Given the description of an element on the screen output the (x, y) to click on. 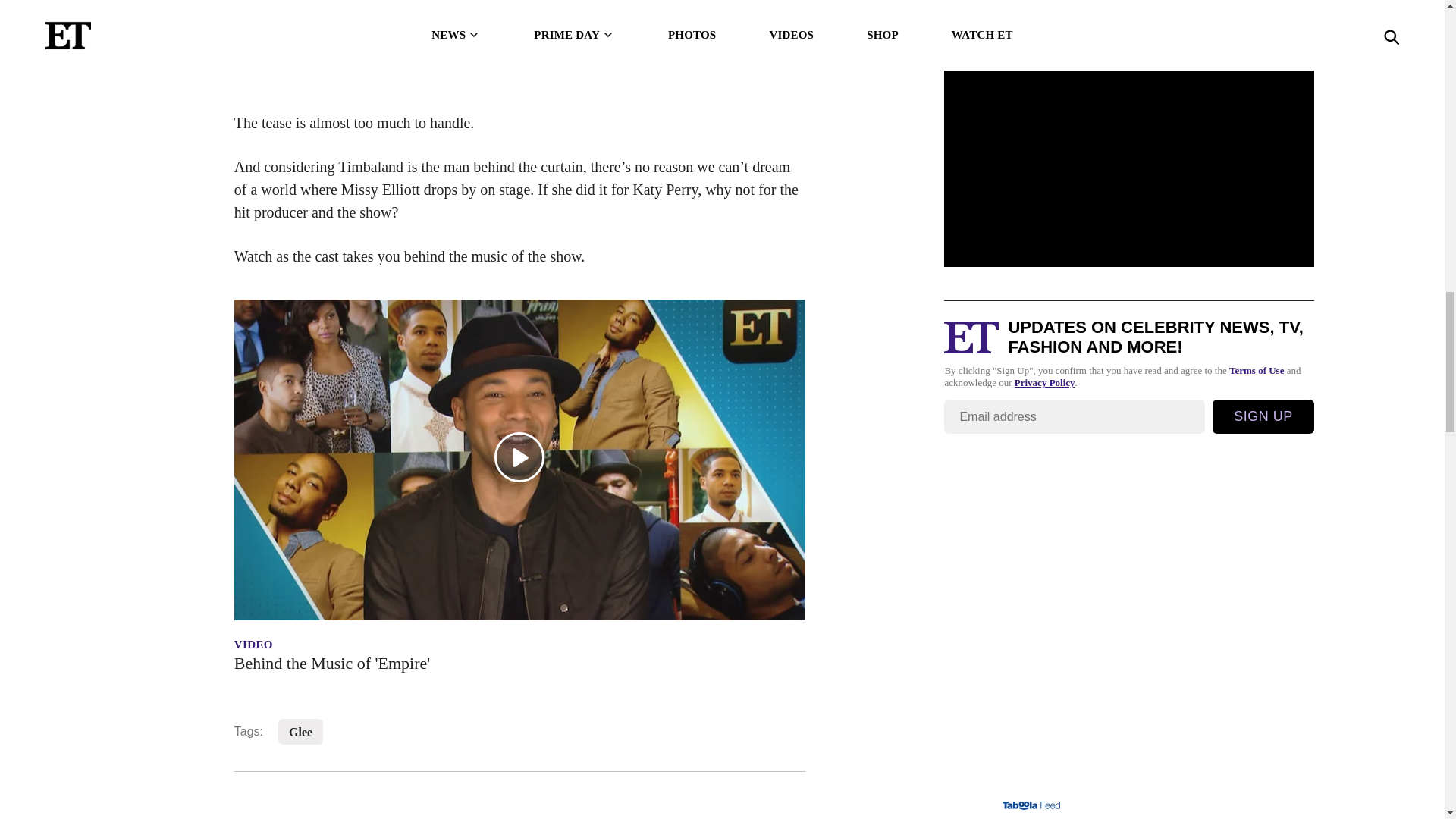
play (519, 457)
